Given the description of an element on the screen output the (x, y) to click on. 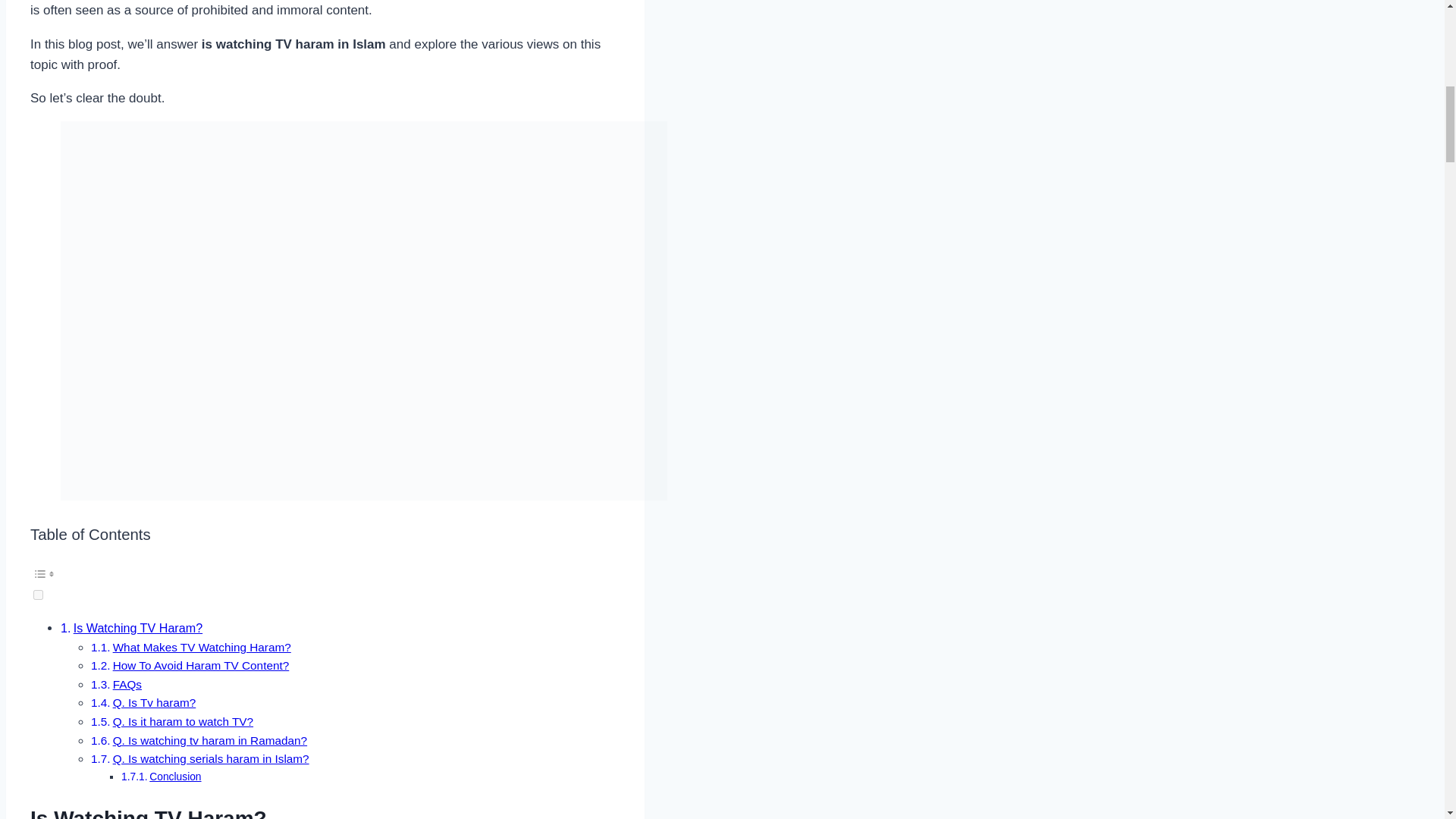
Q. Is watching tv haram in Ramadan? (210, 739)
Is Watching TV Haram? (138, 627)
How To Avoid Haram TV Content? (201, 665)
Q. Is it haram to watch TV? (183, 721)
Conclusion (174, 776)
Q. Is Tv haram? (154, 702)
What Makes TV Watching Haram? (202, 646)
on (38, 594)
Conclusion (174, 776)
How To Avoid Haram TV Content? (201, 665)
What Makes TV Watching Haram? (202, 646)
Q. Is watching serials haram in Islam? (210, 758)
FAQs (127, 684)
Q. Is watching serials haram in Islam? (210, 758)
Q. Is Tv haram? (154, 702)
